Given the description of an element on the screen output the (x, y) to click on. 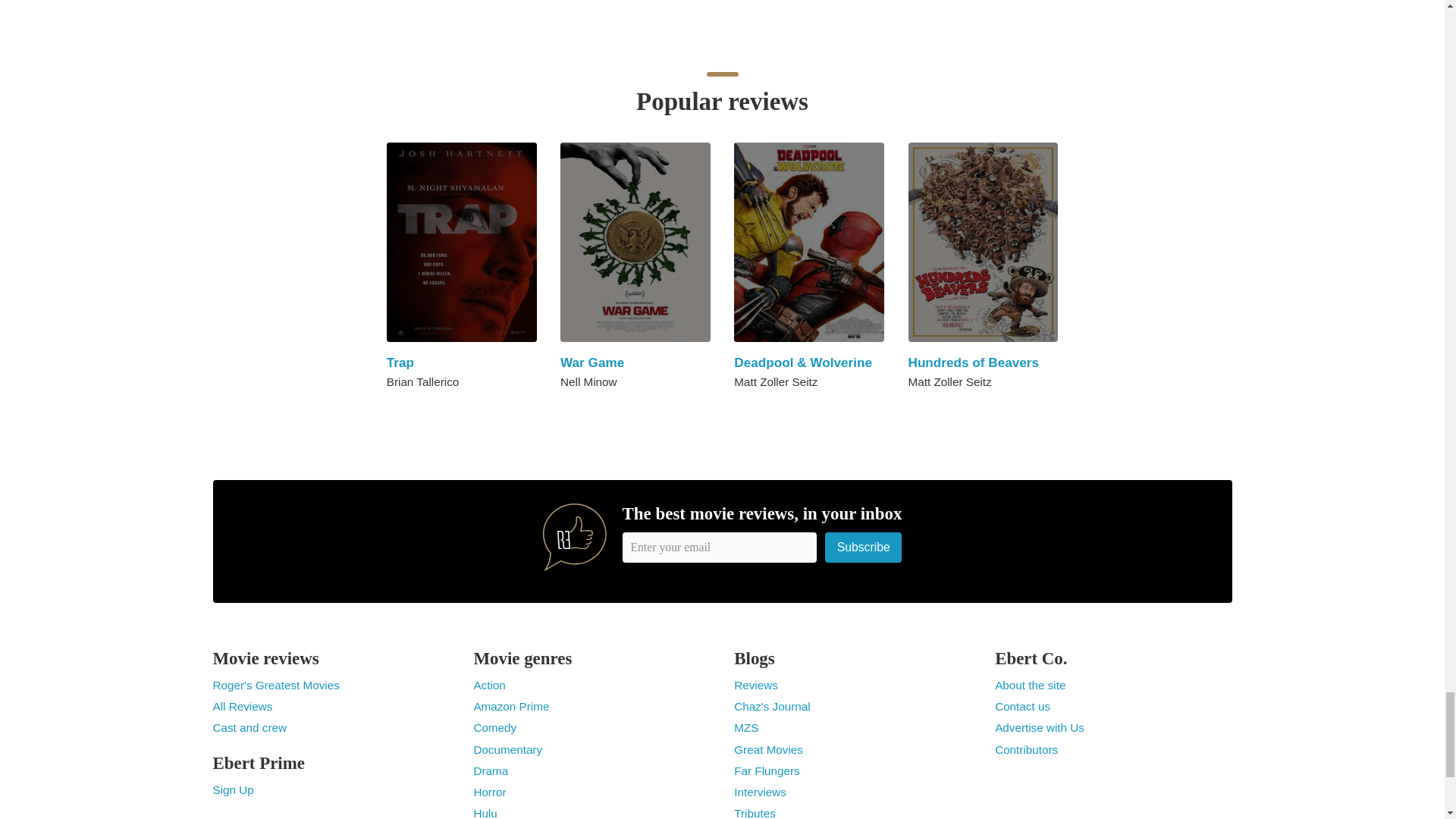
Subscribe (863, 546)
